Given the description of an element on the screen output the (x, y) to click on. 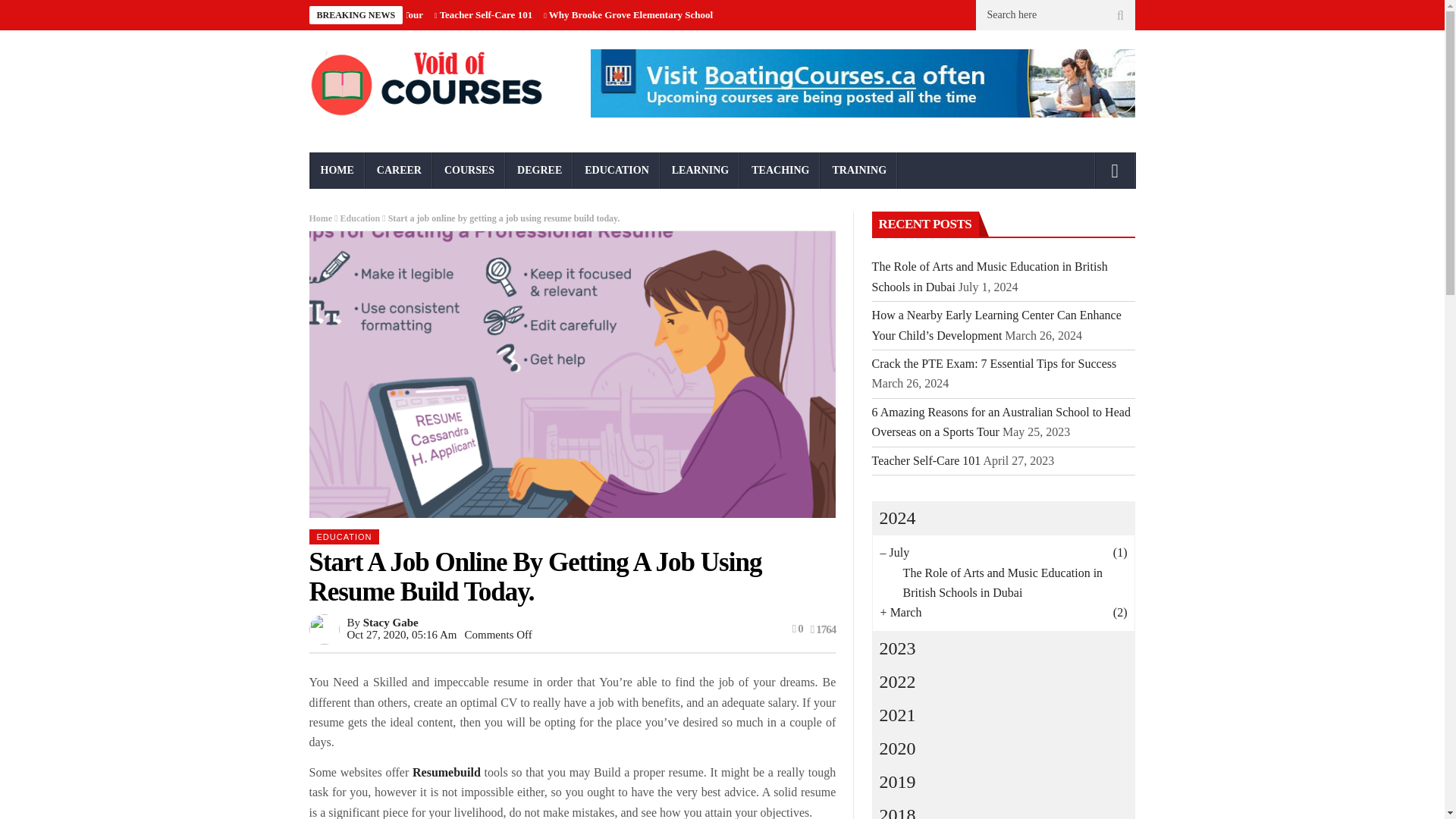
Stacy Gabe (390, 622)
EDUCATION (617, 170)
Resumebuild (446, 771)
HOME (336, 170)
Why Brooke Grove Elementary School? (632, 14)
Posts by Stacy Gabe (390, 622)
Like (797, 628)
Teacher Self-Care 101 (485, 14)
DEGREE (539, 170)
LEARNING (700, 170)
Education (360, 217)
TRAINING (859, 170)
TEACHING (780, 170)
CAREER (398, 170)
